Given the description of an element on the screen output the (x, y) to click on. 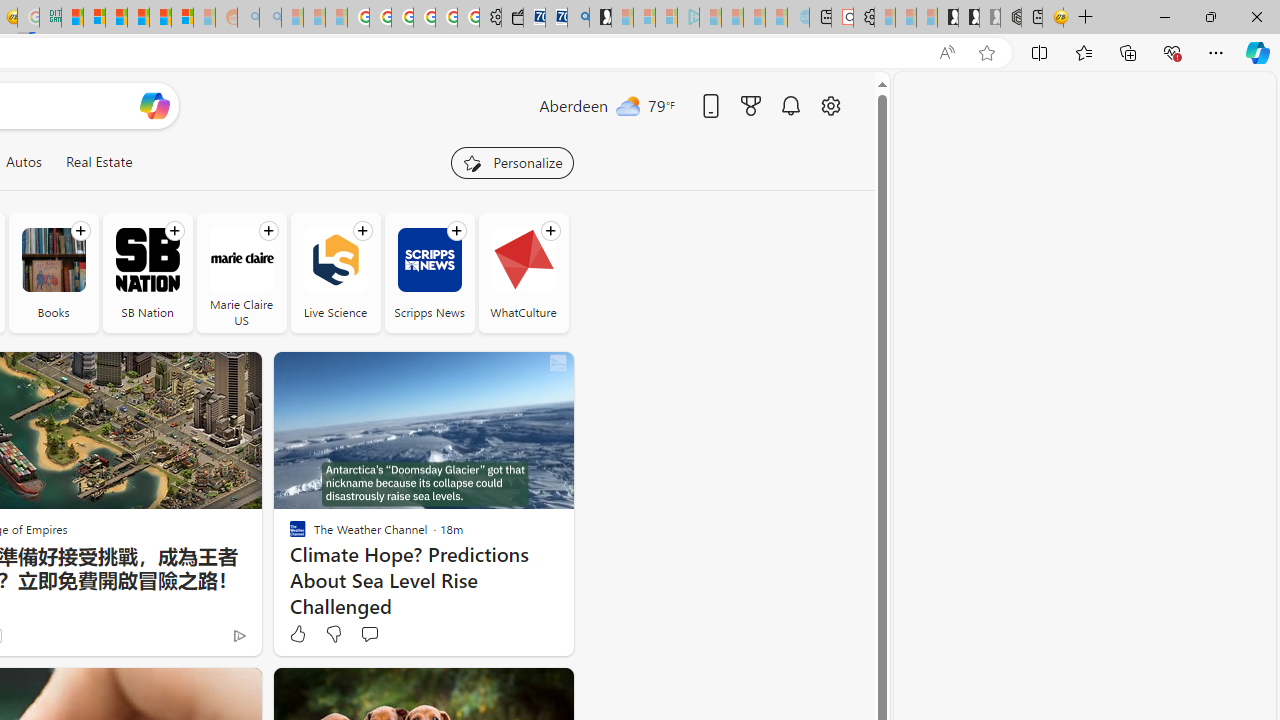
WhatCulture (523, 272)
Hide this story (512, 691)
Books (52, 272)
